Given the description of an element on the screen output the (x, y) to click on. 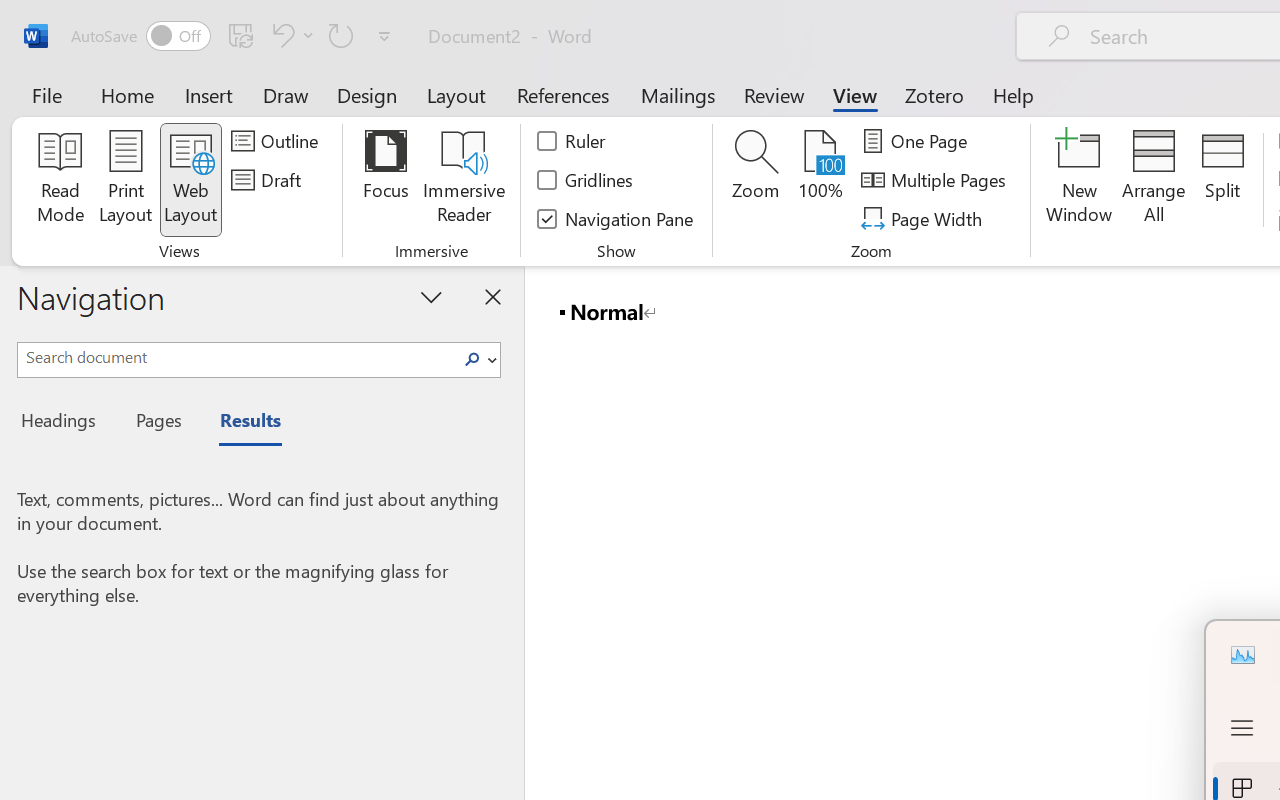
One Page (917, 141)
New Window (1079, 179)
Pages (156, 423)
Help (1013, 94)
Draft (269, 179)
Search document (236, 357)
Task Pane Options (431, 296)
Ruler (572, 141)
Undo <ApplyStyleToDoc>b__0 (290, 35)
Focus (385, 179)
Search (471, 359)
